Given the description of an element on the screen output the (x, y) to click on. 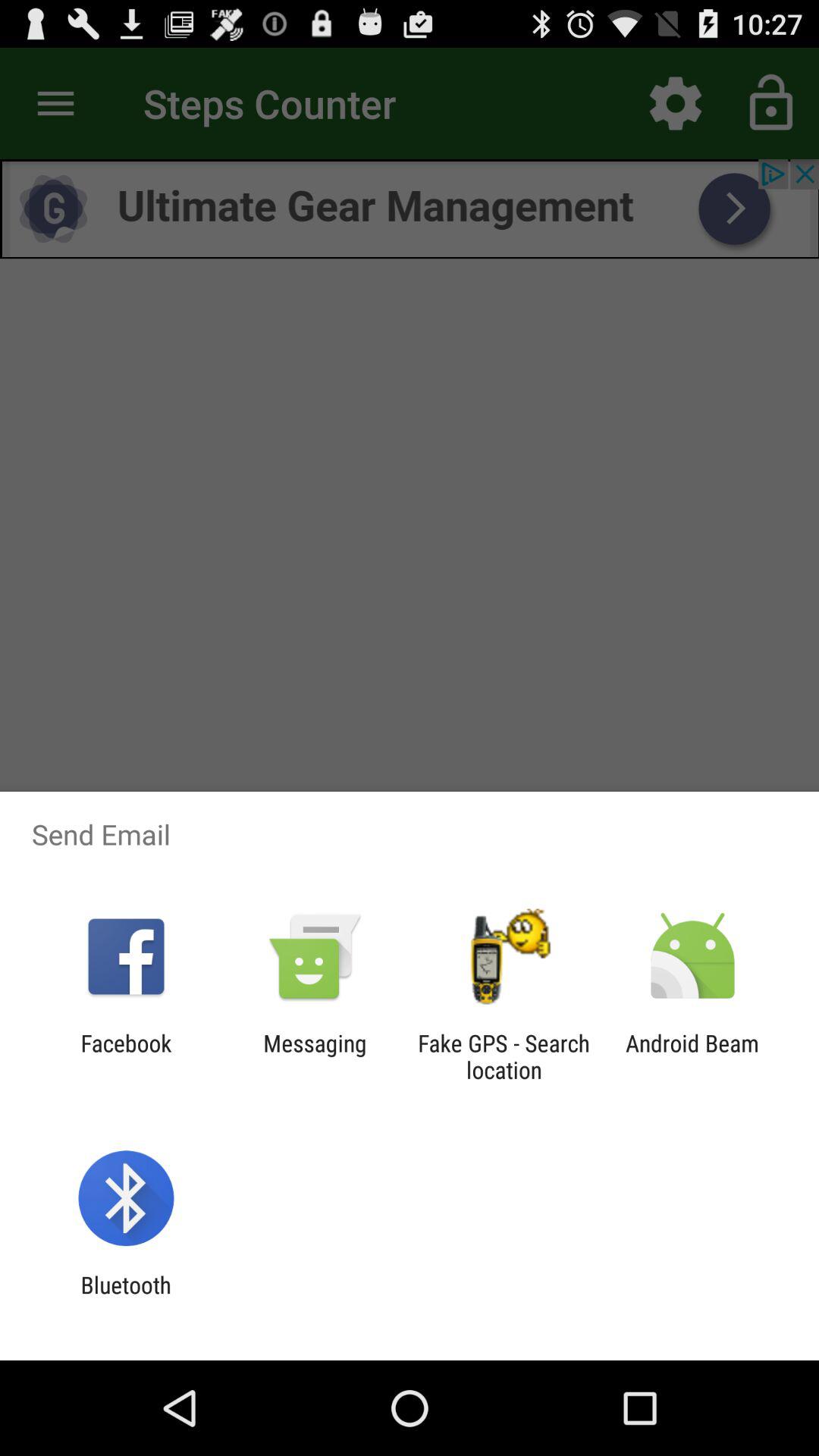
choose the item to the right of the messaging (503, 1056)
